Given the description of an element on the screen output the (x, y) to click on. 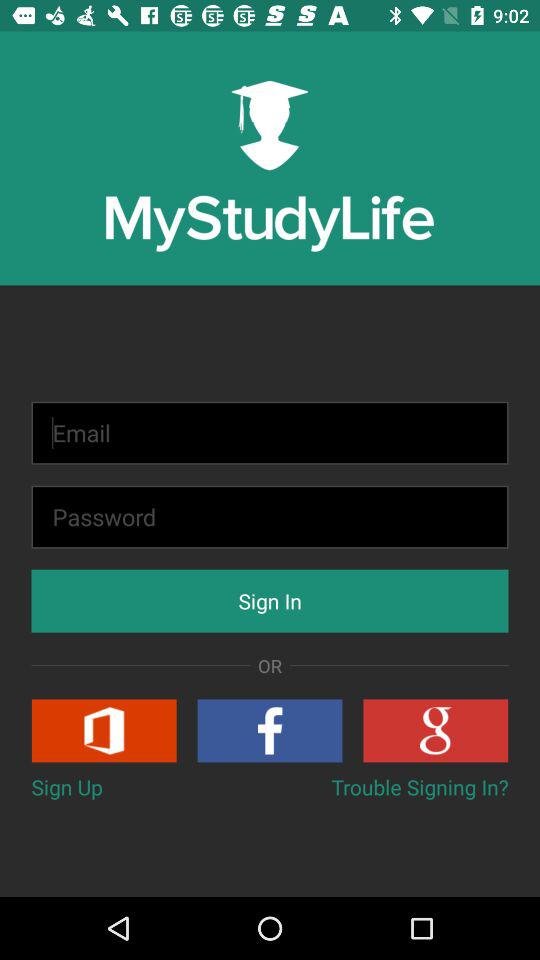
type email (269, 432)
